Given the description of an element on the screen output the (x, y) to click on. 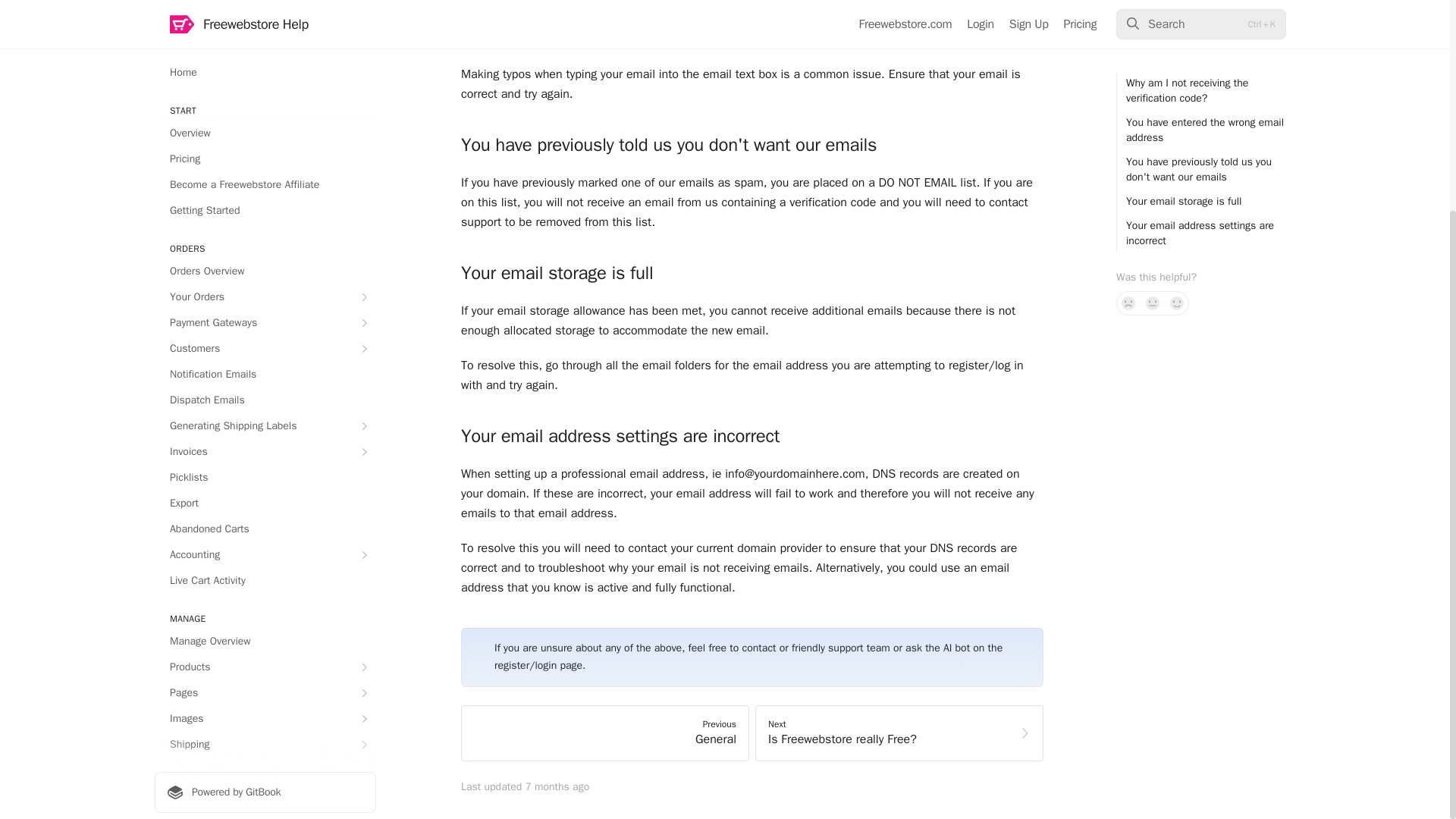
Payment Gateways (264, 38)
Not sure (1152, 18)
No (1128, 18)
Customers (264, 64)
Your Orders (264, 12)
Yes, it was! (1176, 18)
